Given the description of an element on the screen output the (x, y) to click on. 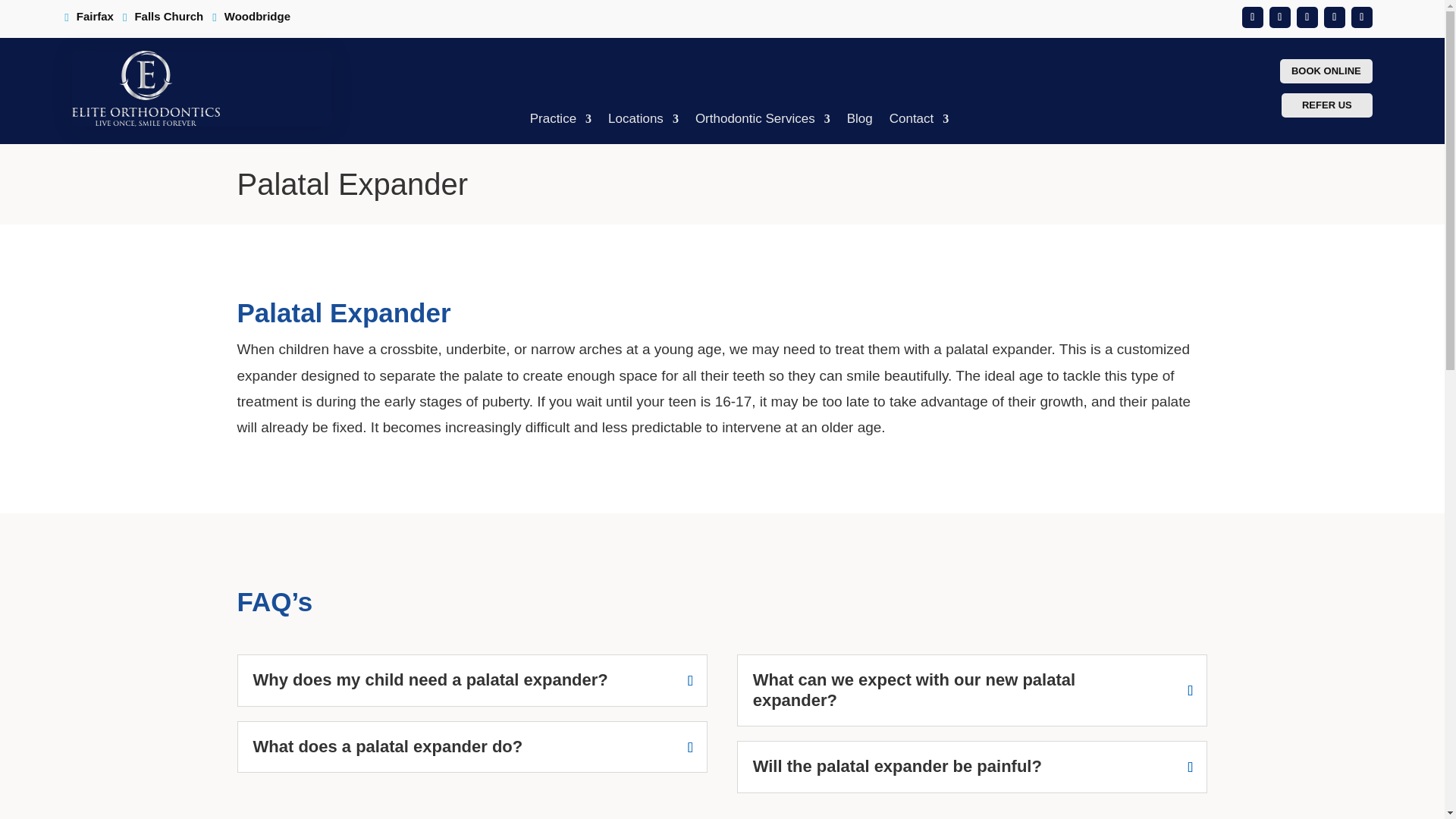
Follow on Behance (1252, 16)
Follow on MySpace (1307, 16)
Falls Church (167, 19)
Follow on Instagram (1362, 16)
Follow on dribbble (1279, 16)
Woodbridge (254, 19)
Orthodontic Services (762, 122)
Locations (643, 122)
Fairfax (92, 19)
Practice (560, 122)
